Given the description of an element on the screen output the (x, y) to click on. 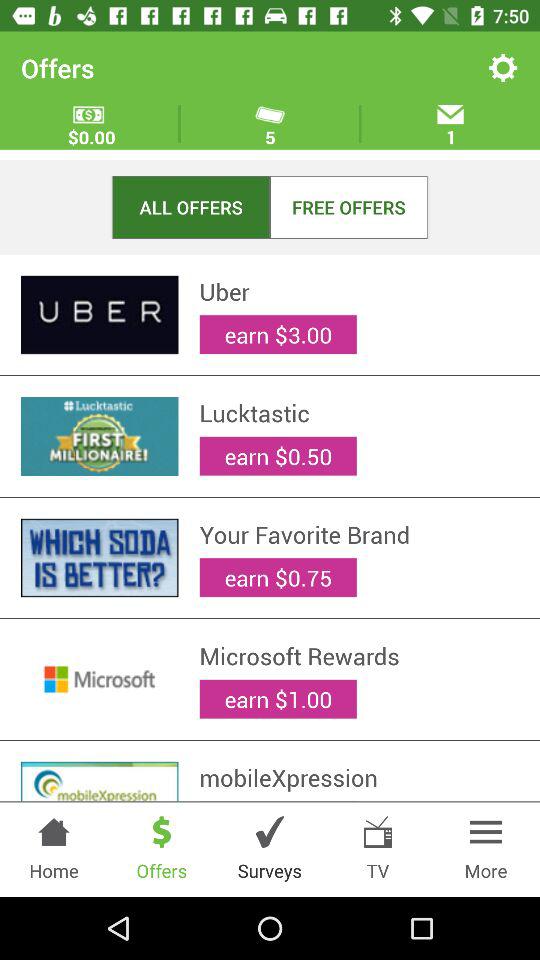
launch the your favorite brand item (359, 534)
